Given the description of an element on the screen output the (x, y) to click on. 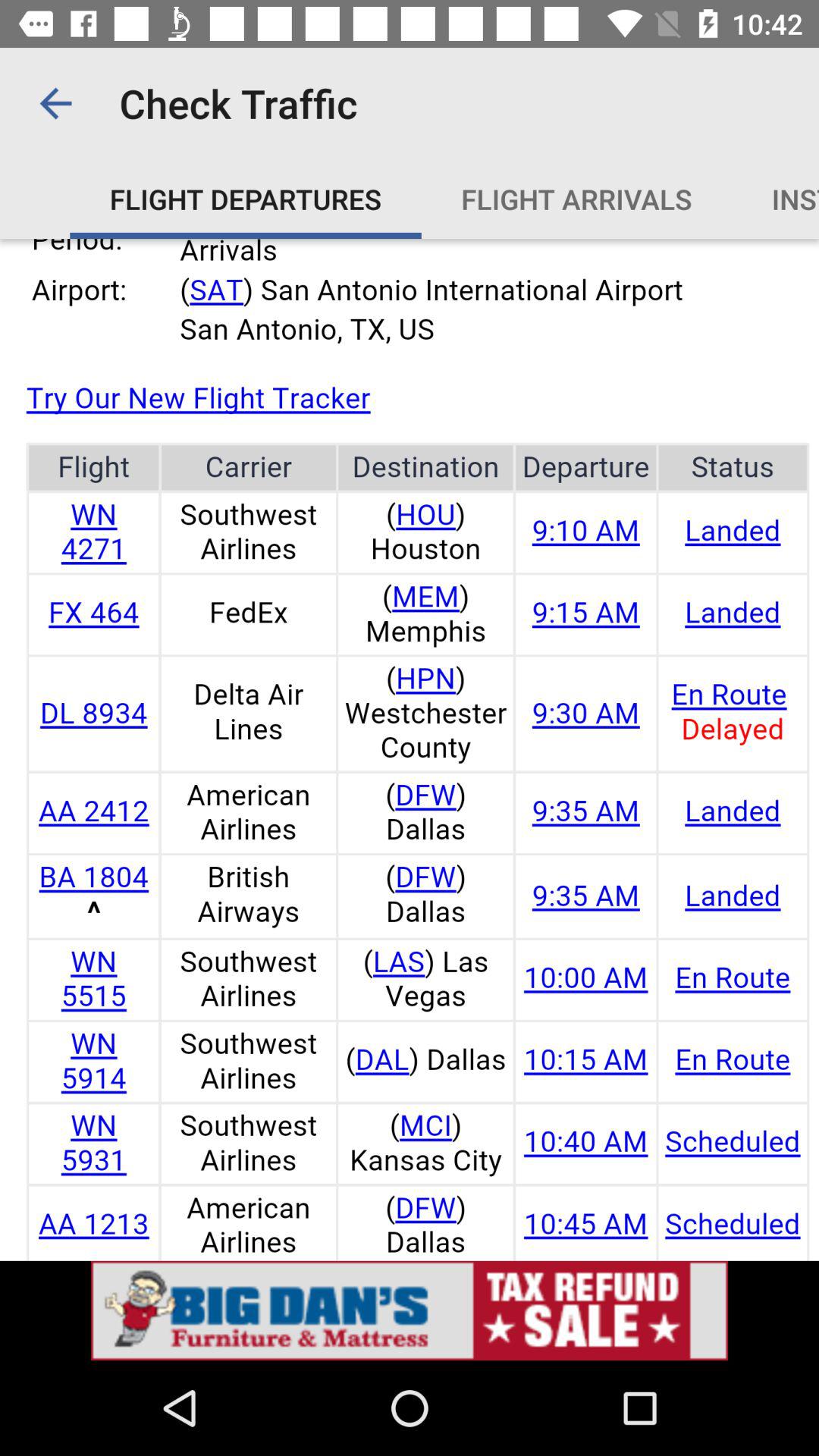
go to advertisement option (409, 1310)
